Given the description of an element on the screen output the (x, y) to click on. 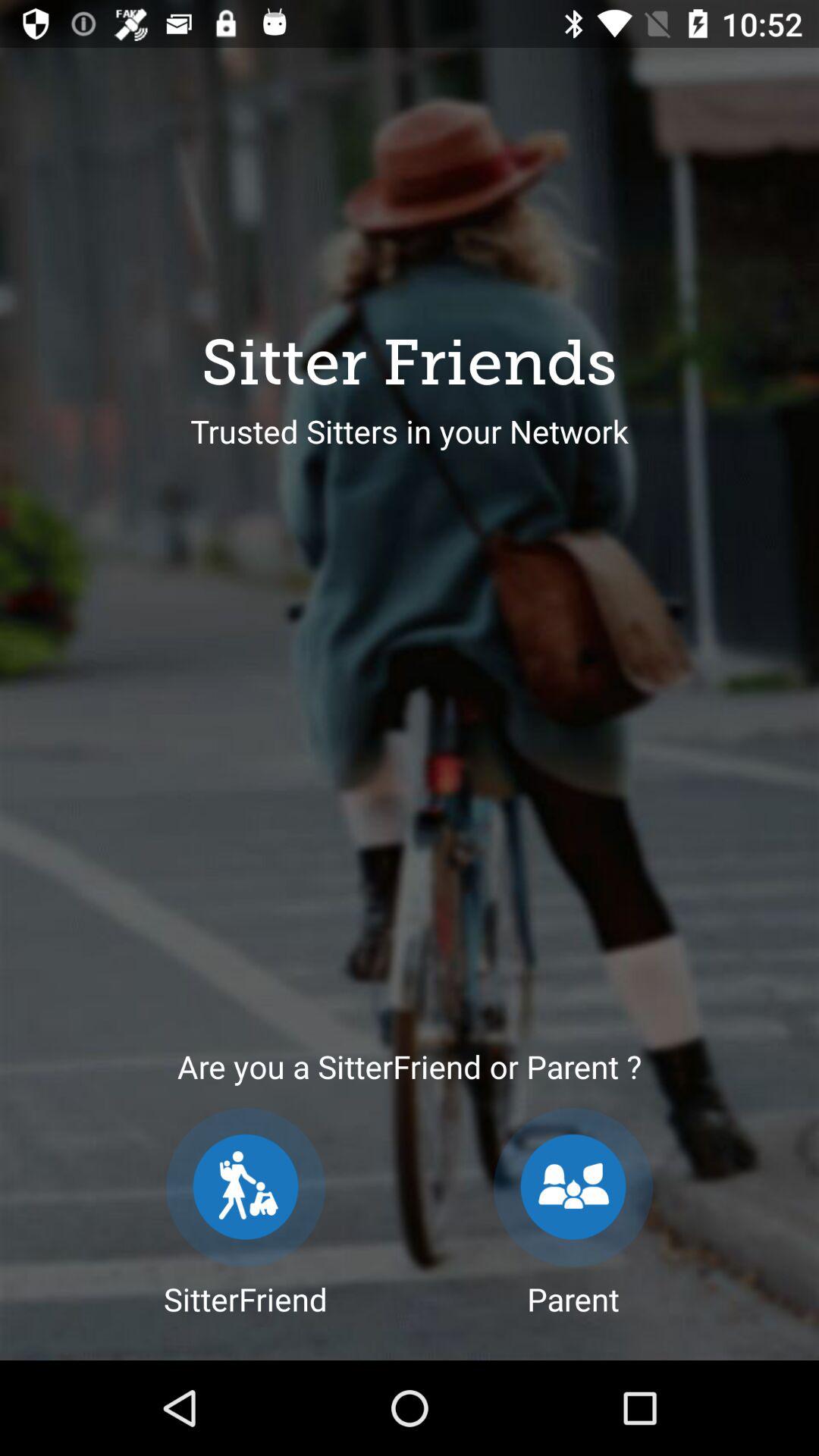
advertisement (245, 1187)
